Given the description of an element on the screen output the (x, y) to click on. 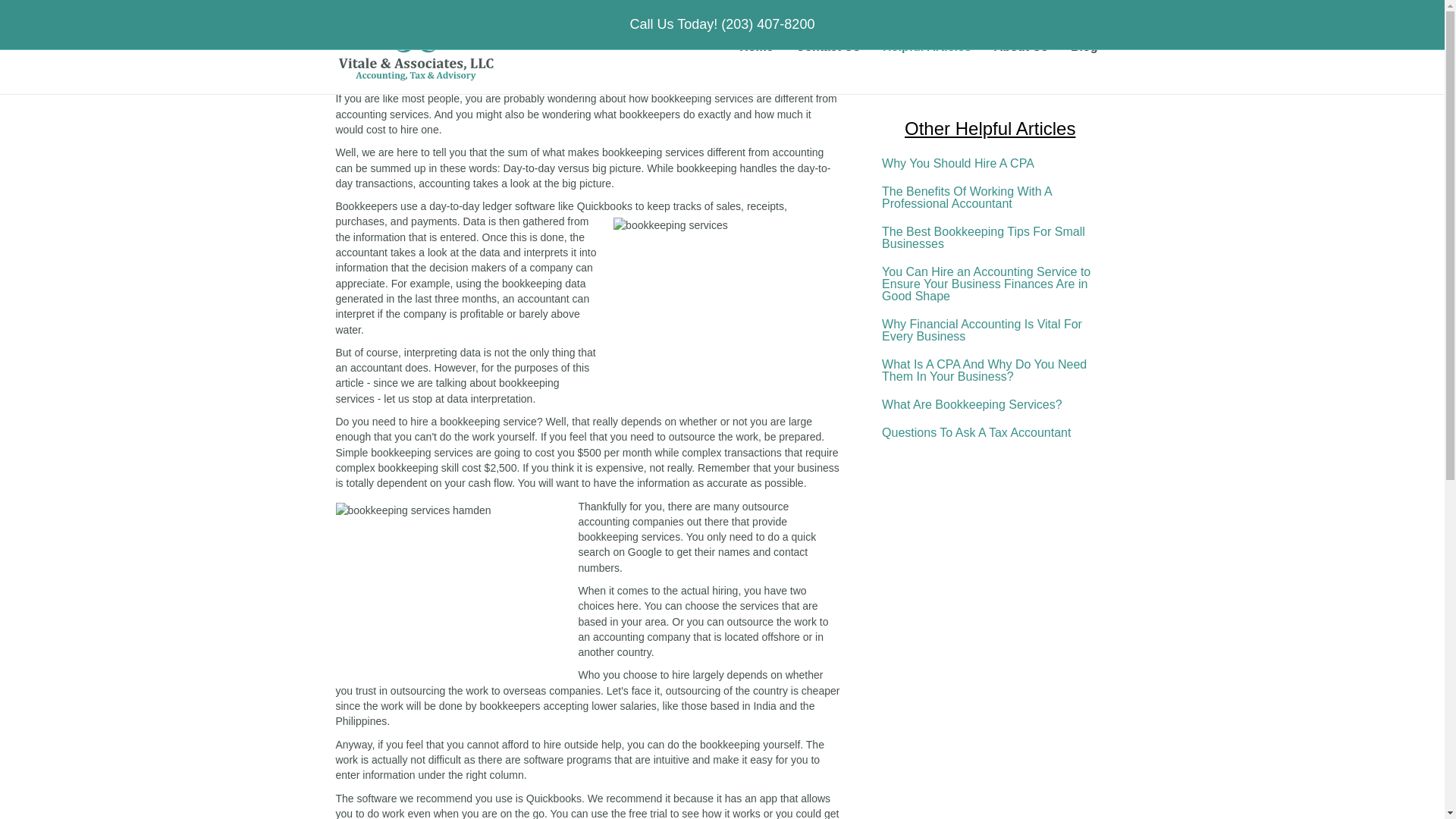
Why Financial Accounting Is Vital For Every Business (989, 330)
The Best Bookkeeping Tips For Small Businesses (989, 237)
The Benefits Of Working With A Professional Accountant (989, 197)
What Is A CPA And Why Do You Need Them In Your Business? (989, 370)
Helpful Articles (926, 46)
About Us (1020, 46)
What Are Bookkeeping Services? (989, 404)
Why You Should Hire A CPA (989, 163)
Contact Us (827, 46)
Blog (1084, 46)
Home (756, 46)
angelo-appointment2 (990, 36)
Questions To Ask A Tax Accountant (989, 432)
mike-appointment2 (990, 64)
